Given the description of an element on the screen output the (x, y) to click on. 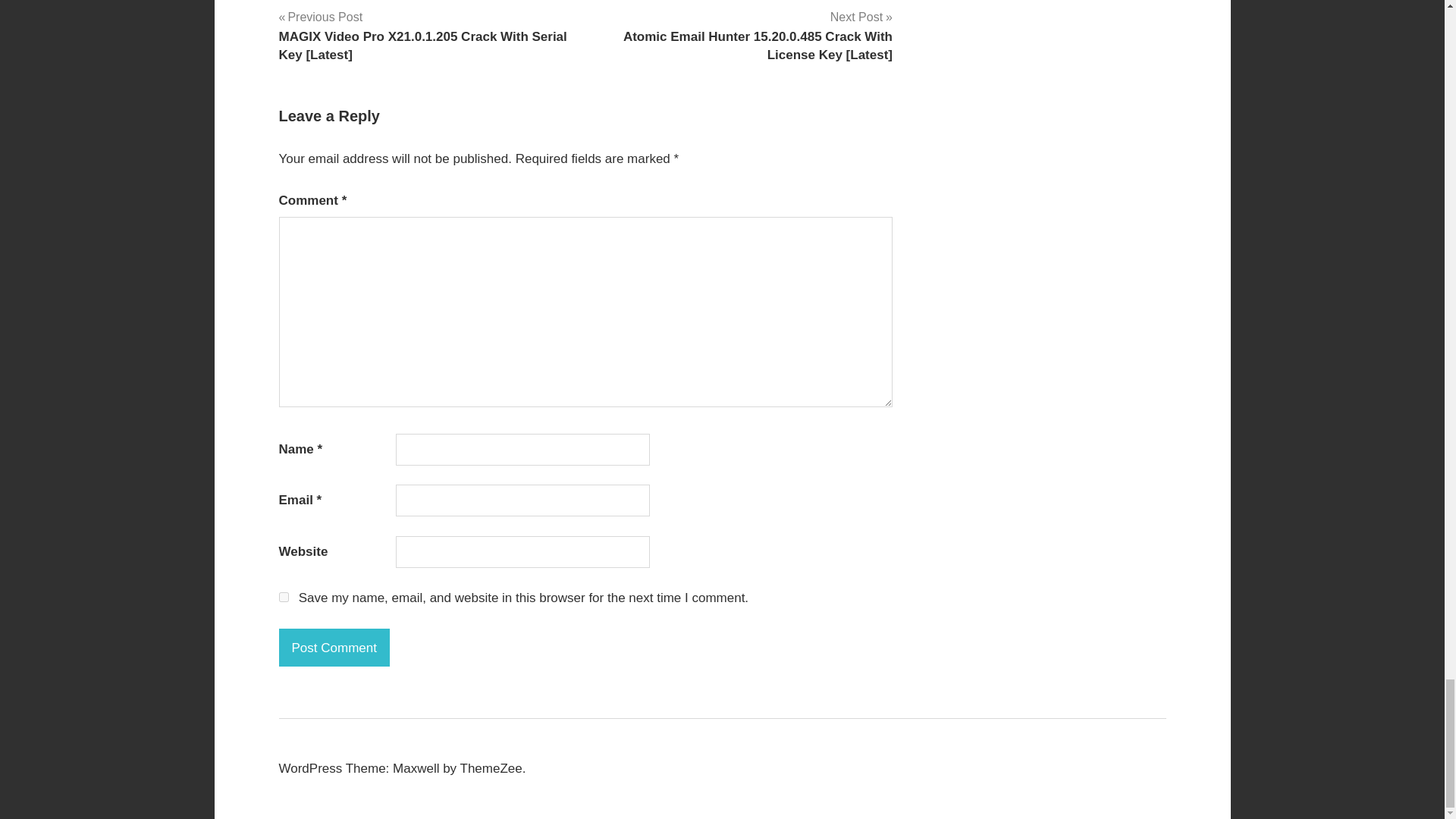
yes (283, 596)
Post Comment (334, 647)
